Given the description of an element on the screen output the (x, y) to click on. 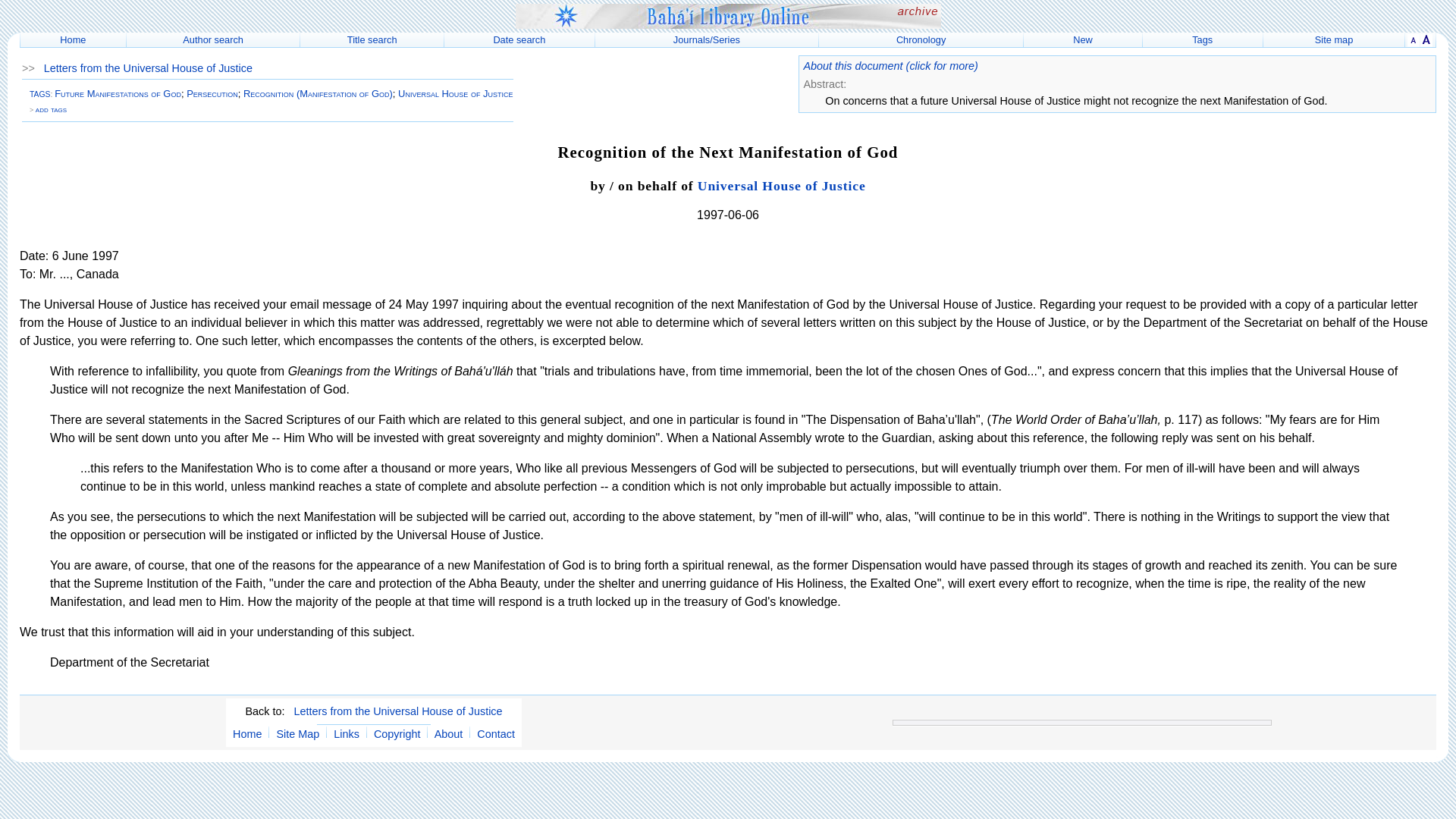
Copyright (397, 734)
About (448, 734)
Home (247, 734)
Author search (213, 39)
Letters from the Universal House of Justice (147, 68)
Site Map (297, 734)
Contact (496, 734)
Title search (372, 39)
Date search (518, 39)
Site map (1334, 39)
Universal House of Justice (781, 185)
Chronology (920, 39)
TAGS (39, 94)
Links (346, 734)
add tags (50, 108)
